Given the description of an element on the screen output the (x, y) to click on. 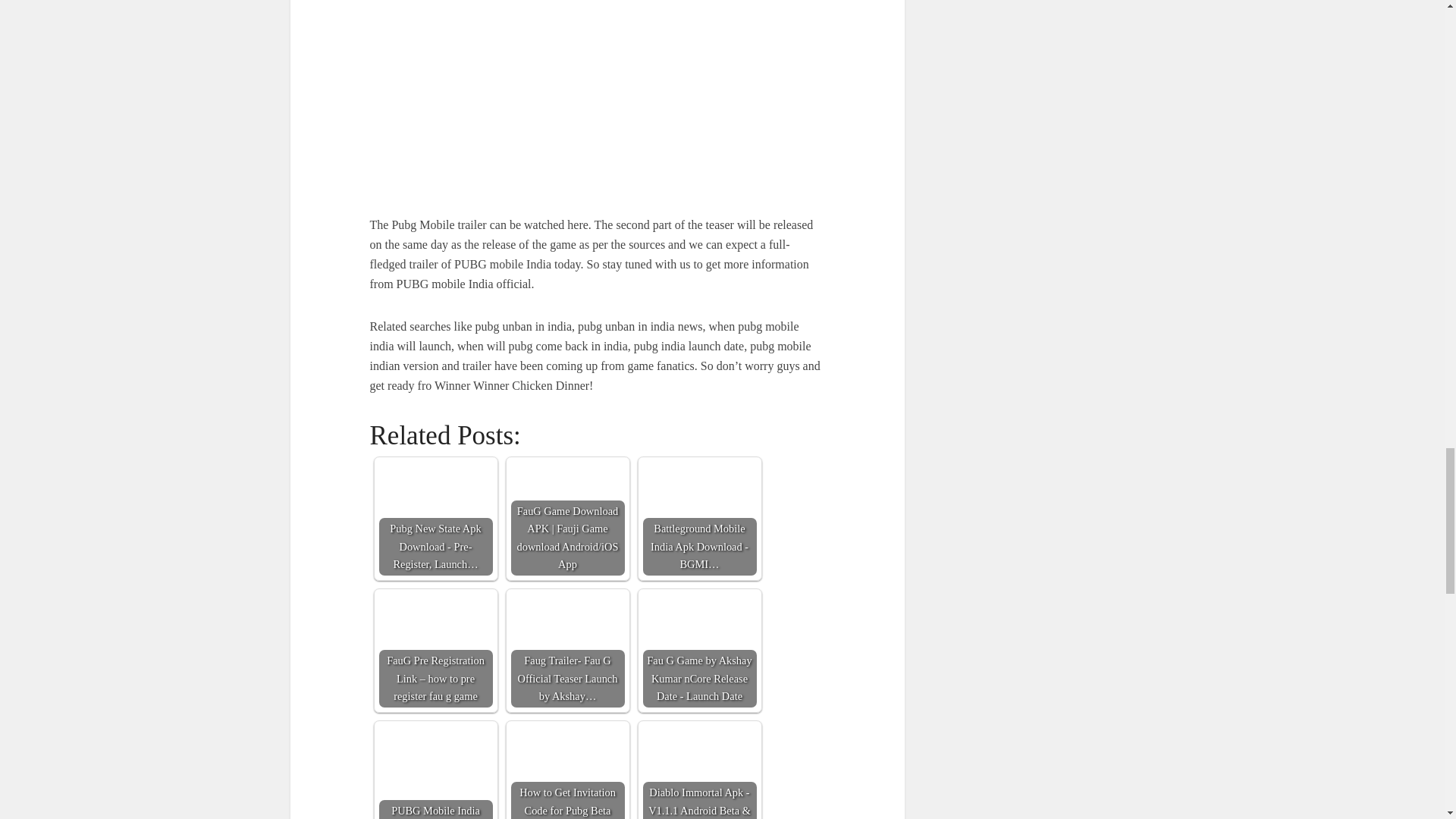
How to Get Invitation Code for Pubg Beta Version 1.2 (567, 772)
How to Get Invitation Code for Pubg Beta Version 1.2 (567, 772)
PUBG Mobile India Download Apk Link (435, 772)
Fau G Game by Akshay Kumar nCore Release Date - Launch Date (700, 650)
Fau G Game by Akshay Kumar nCore Release Date - Launch Date (700, 650)
PUBG Mobile India Download Apk Link (435, 772)
